Given the description of an element on the screen output the (x, y) to click on. 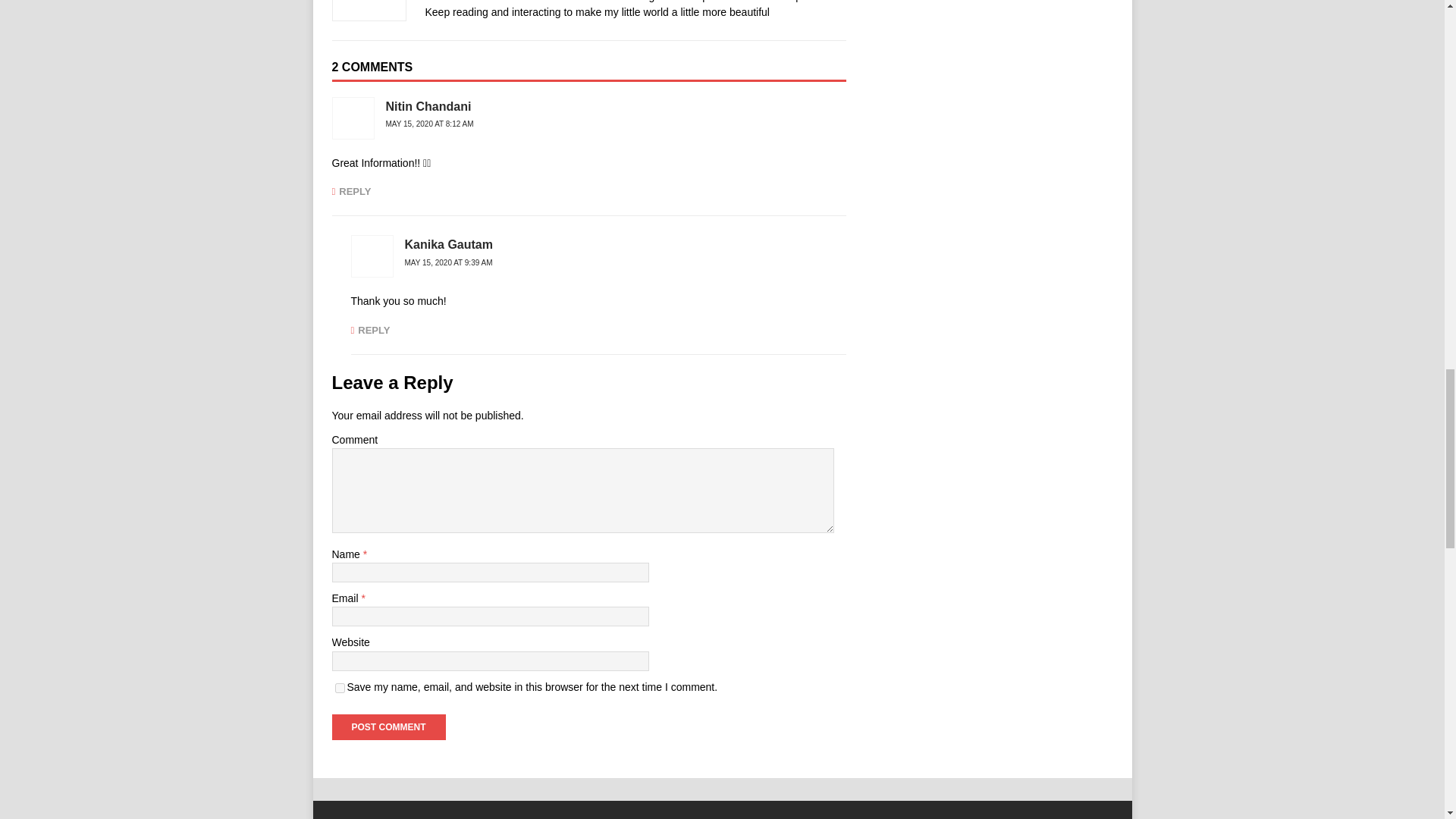
REPLY (351, 191)
MAY 15, 2020 AT 9:39 AM (448, 262)
REPLY (370, 329)
Post Comment (388, 727)
yes (339, 687)
Nitin Chandani (427, 106)
Kanika Gautam (448, 244)
MAY 15, 2020 AT 8:12 AM (429, 123)
Post Comment (388, 727)
